Given the description of an element on the screen output the (x, y) to click on. 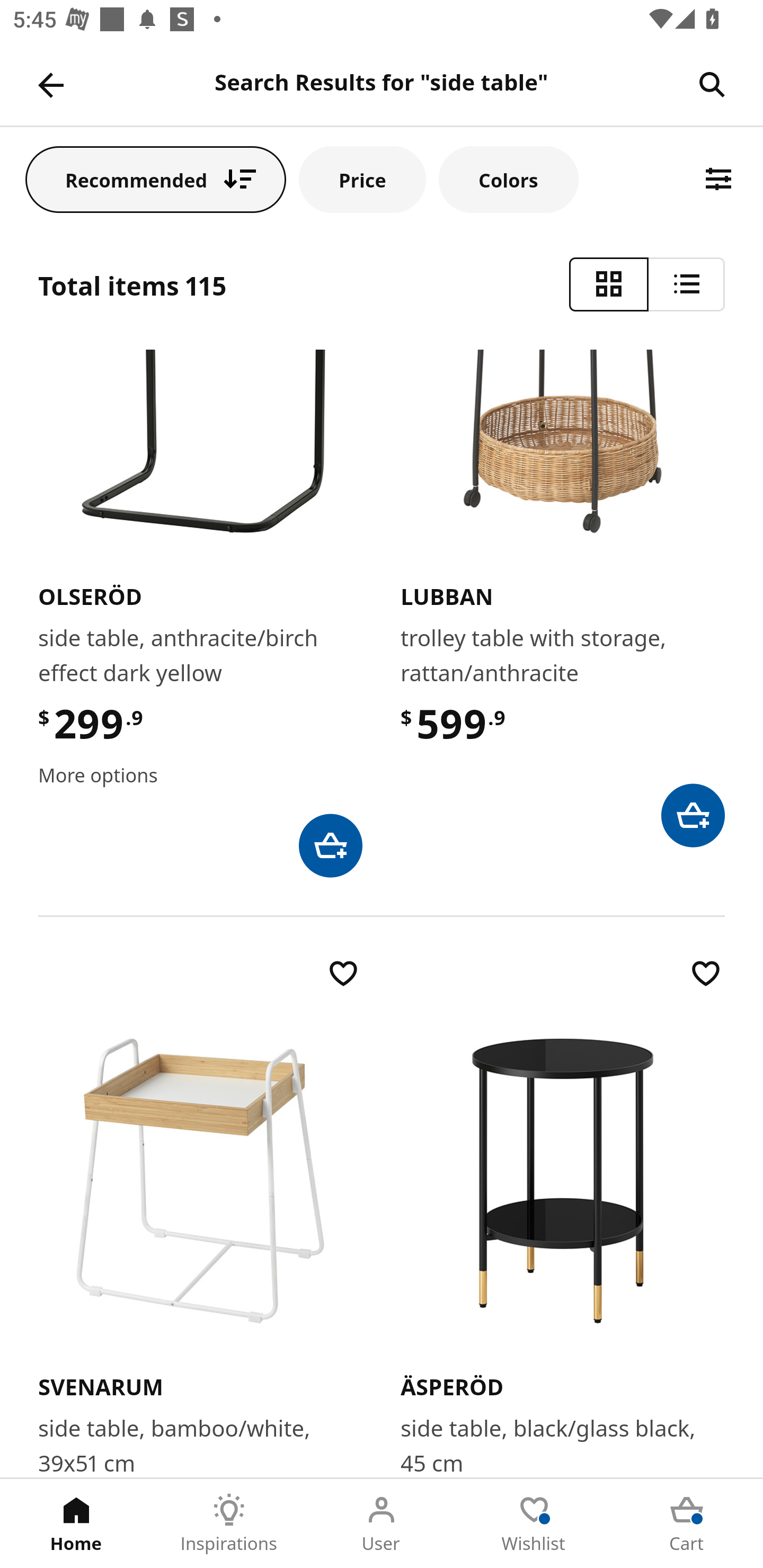
Recommended (155, 179)
Price (362, 179)
Colors (508, 179)
Home
Tab 1 of 5 (76, 1522)
Inspirations
Tab 2 of 5 (228, 1522)
User
Tab 3 of 5 (381, 1522)
Wishlist
Tab 4 of 5 (533, 1522)
Cart
Tab 5 of 5 (686, 1522)
